Given the description of an element on the screen output the (x, y) to click on. 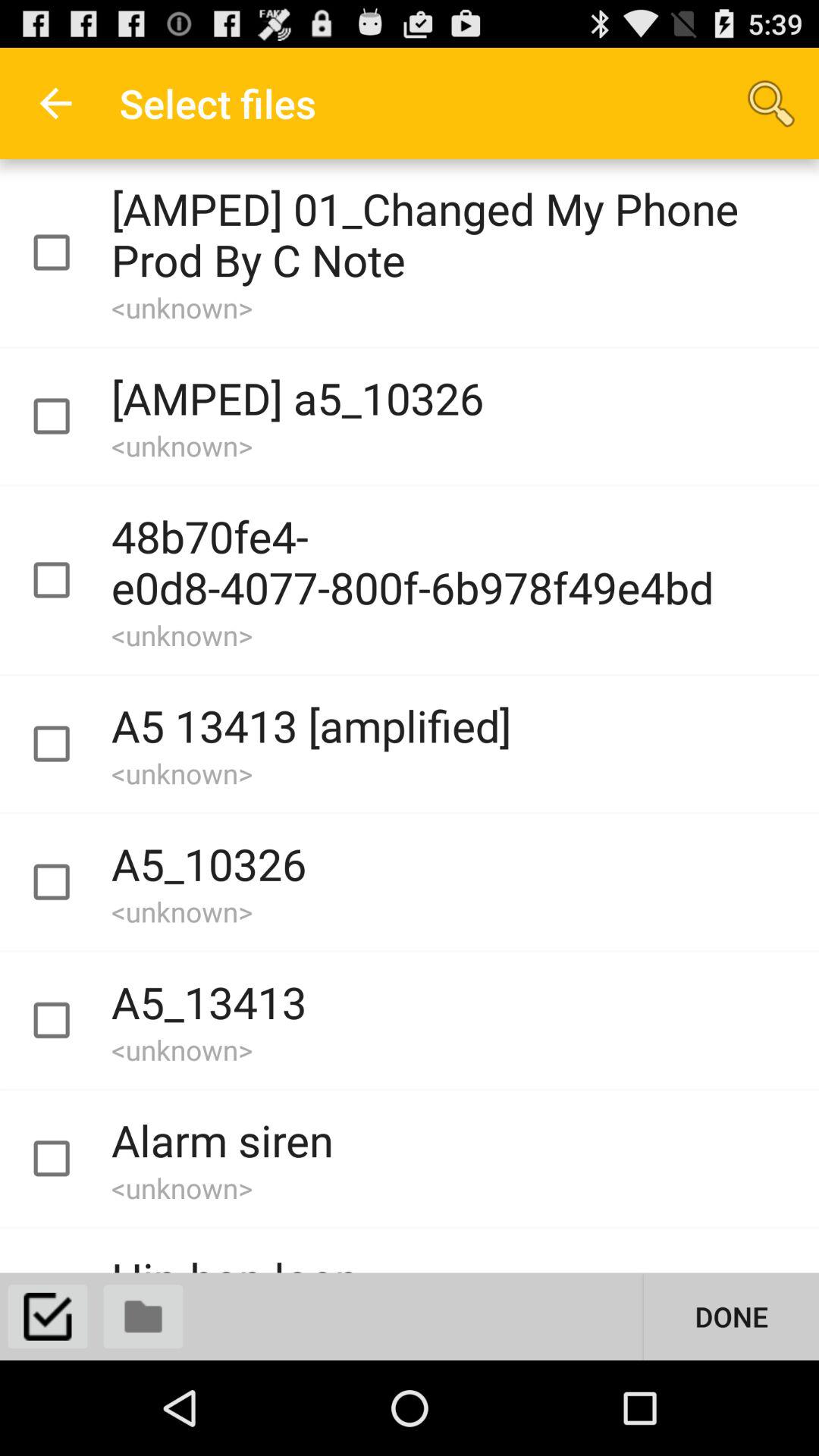
launch app next to hip-hop loop (731, 1316)
